Given the description of an element on the screen output the (x, y) to click on. 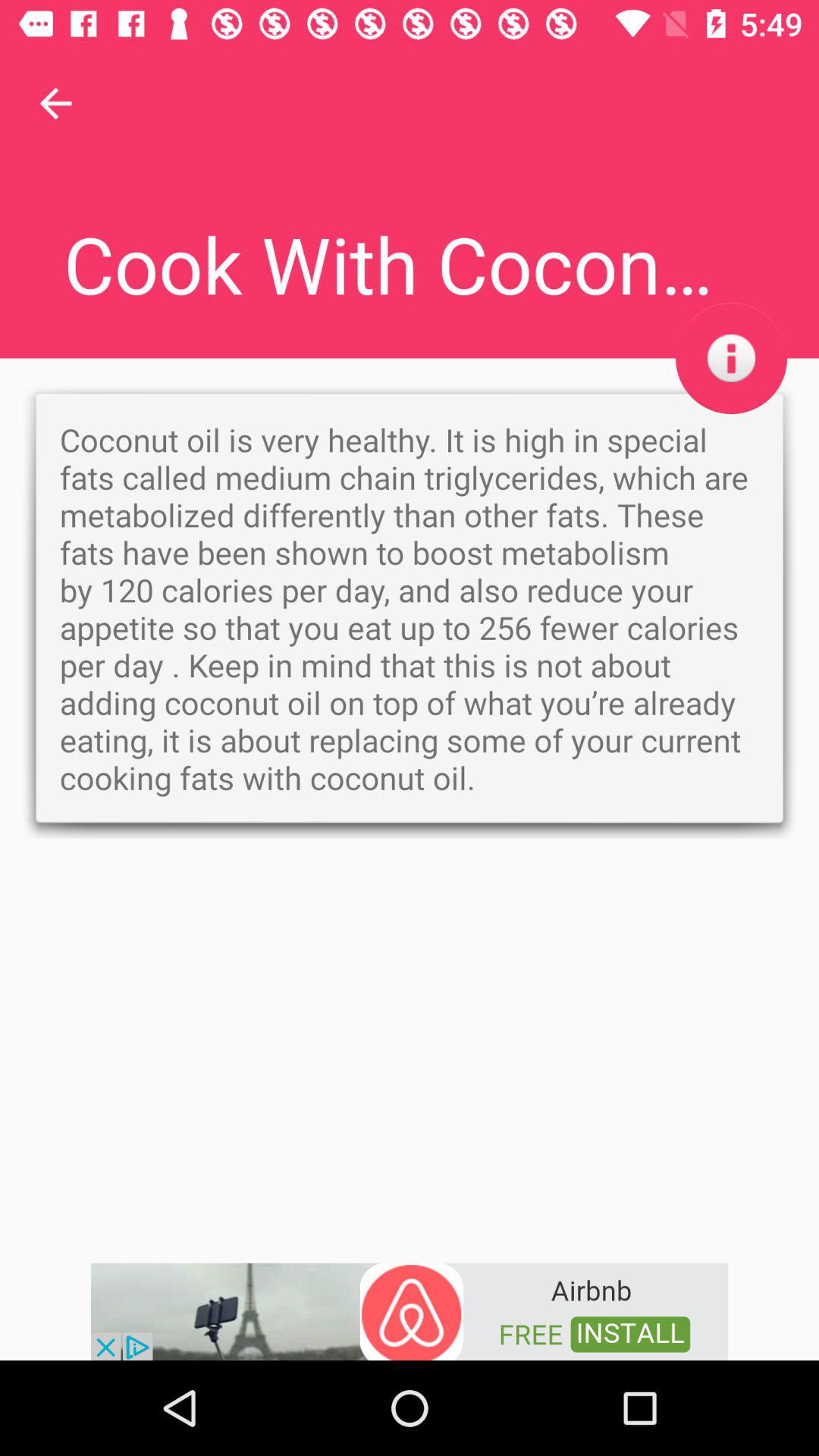
advertisement (409, 1310)
